Given the description of an element on the screen output the (x, y) to click on. 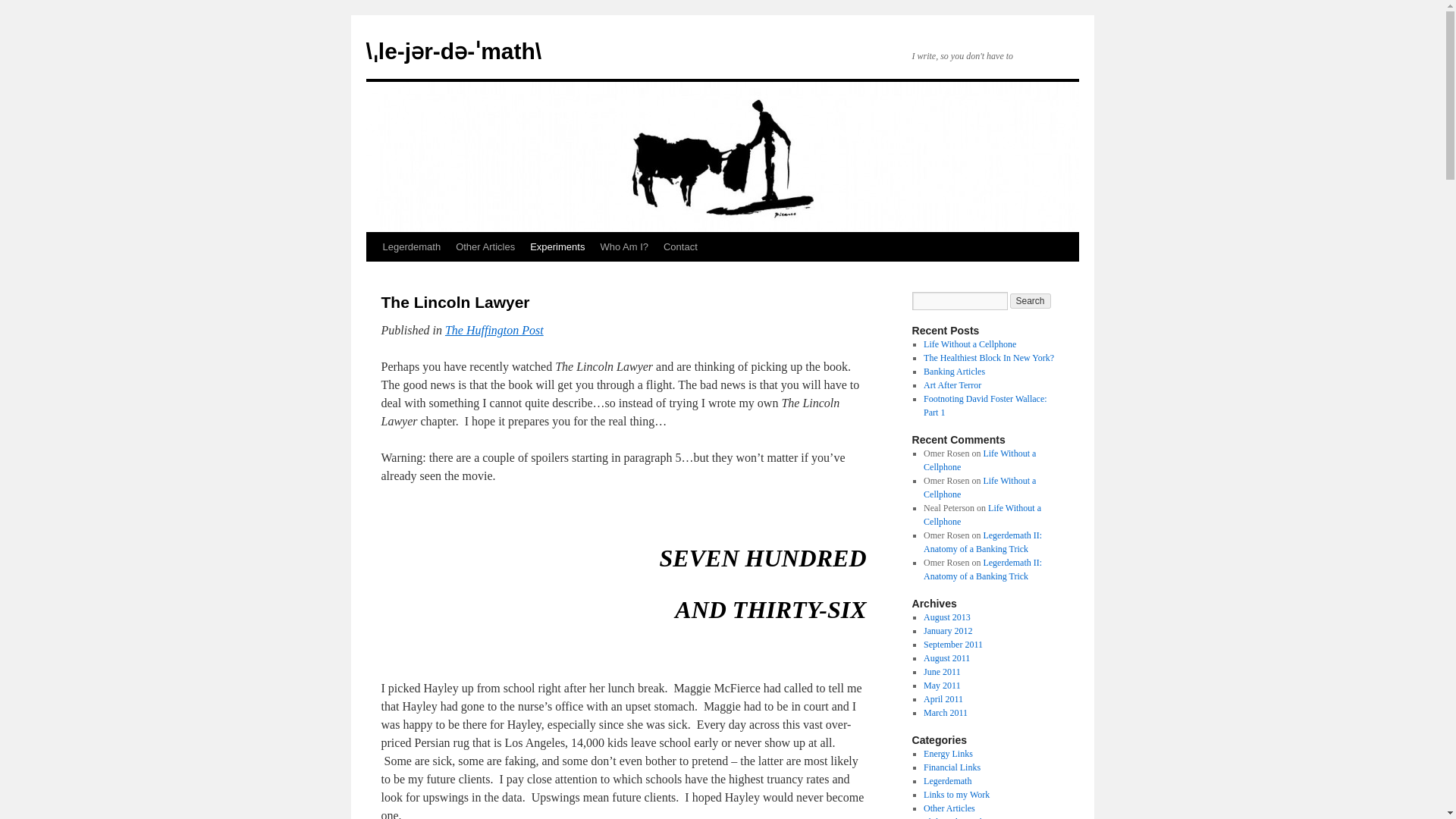
The Huffington Post (494, 329)
Experiments (557, 246)
Life Without a Cellphone (969, 344)
January 2012 (947, 630)
April 2011 (942, 698)
The Healthiest Block In New York? (988, 357)
Other Articles (485, 246)
August 2013 (947, 616)
Contact (680, 246)
May 2011 (941, 685)
The Healthiest Block In New York? (988, 357)
March 2011 (945, 712)
Art After Terror (952, 385)
Life Without a Cellphone (979, 487)
Life Without a Cellphone (979, 459)
